Given the description of an element on the screen output the (x, y) to click on. 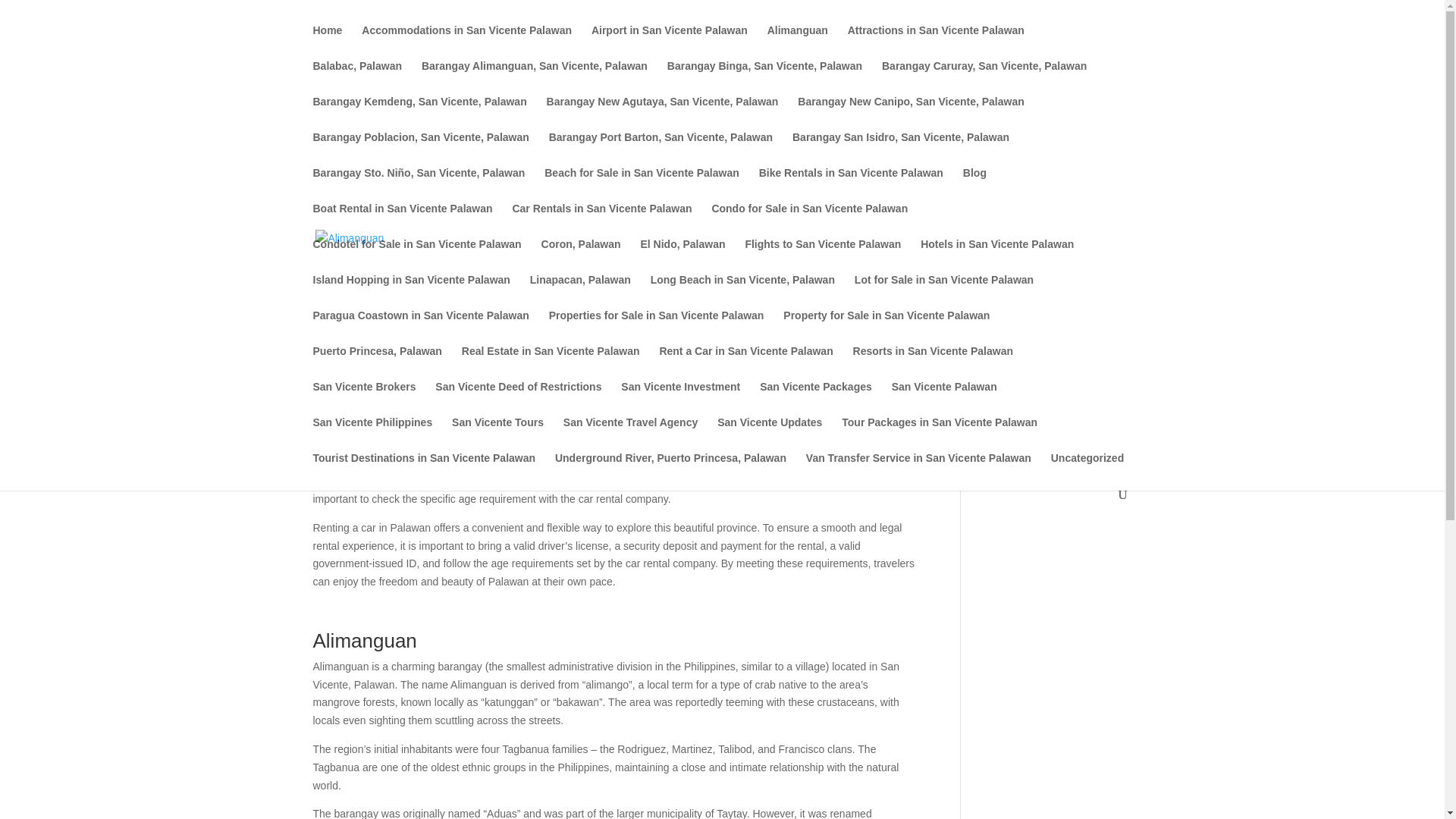
Paragua Coastown in San Vicente Palawan (420, 327)
Hotels in San Vicente Palawan (997, 256)
Linapacan, Palawan (579, 292)
Boat Rental in San Vicente Palawan (402, 221)
Barangay Poblacion, San Vicente, Palawan (420, 149)
Island Hopping in San Vicente Palawan (411, 292)
Barangay San Isidro, San Vicente, Palawan (900, 149)
Properties for Sale in San Vicente Palawan (656, 327)
Attractions in San Vicente Palawan (936, 42)
Accommodations in San Vicente Palawan (466, 42)
